Given the description of an element on the screen output the (x, y) to click on. 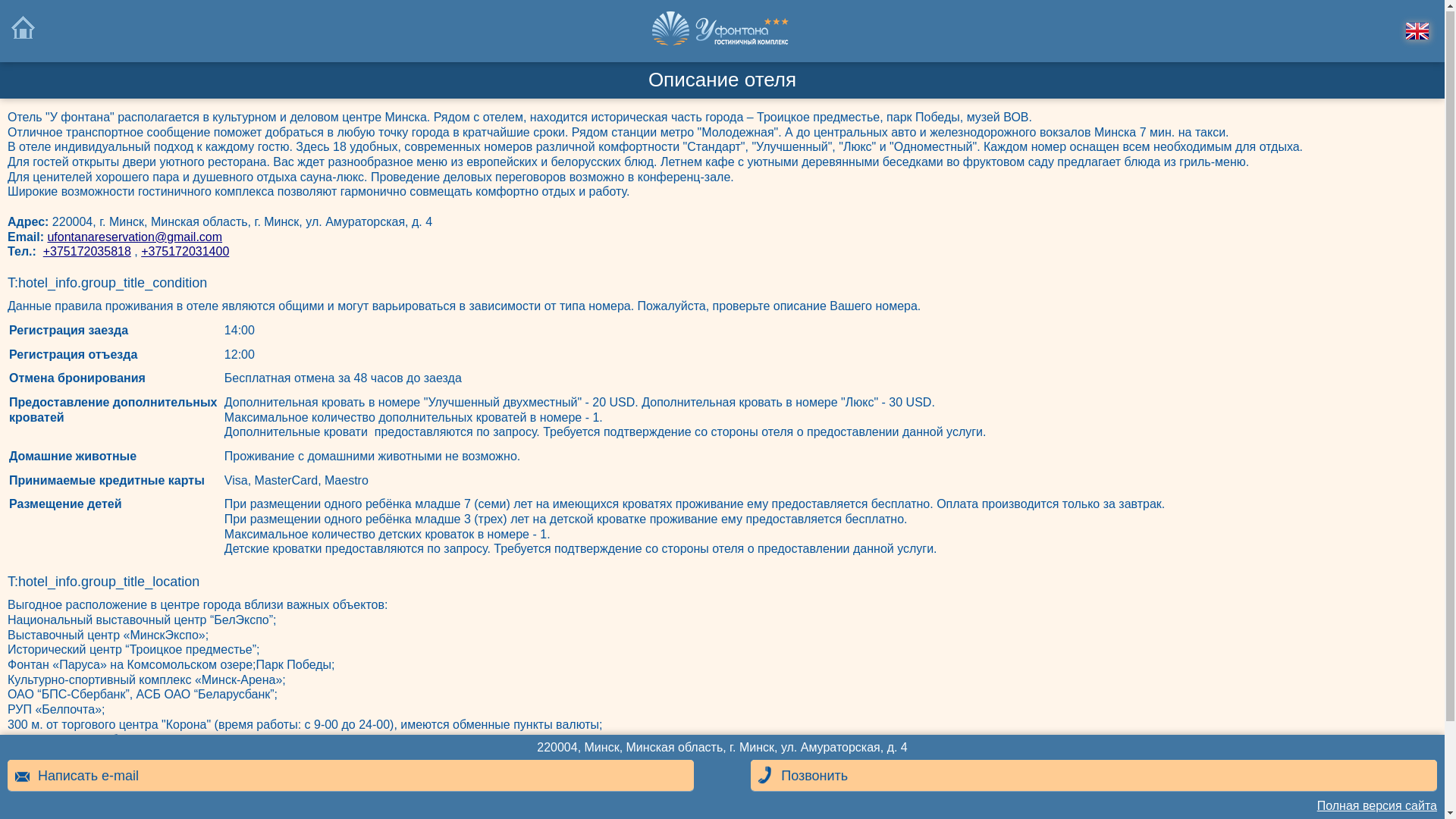
ufontanareservation@gmail.com Element type: text (134, 237)
+375172035818 Element type: text (87, 251)
  Element type: text (722, 31)
+375172031400 Element type: text (185, 251)
LiveInternet Element type: hover (33, 7)
